Given the description of an element on the screen output the (x, y) to click on. 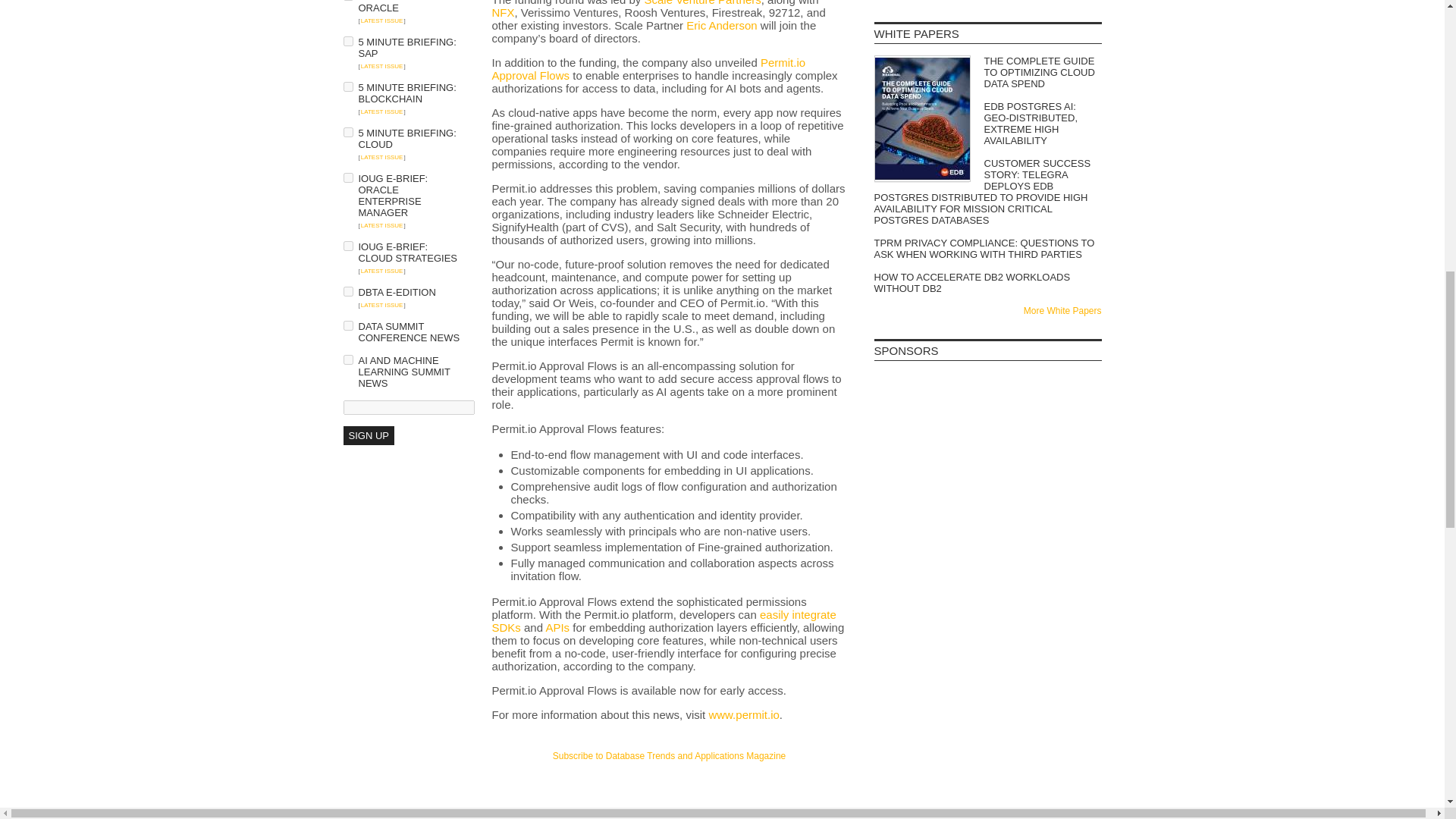
The Complete Guide to Optimizing Cloud Data Spend (986, 72)
EDB Postgres Ai: Geo-distributed, Extreme High Availability (986, 123)
on (347, 177)
on (347, 325)
on (347, 359)
on (347, 245)
Sign Up (367, 435)
3rd party ad content (986, 591)
3rd party ad content (986, 500)
